Given the description of an element on the screen output the (x, y) to click on. 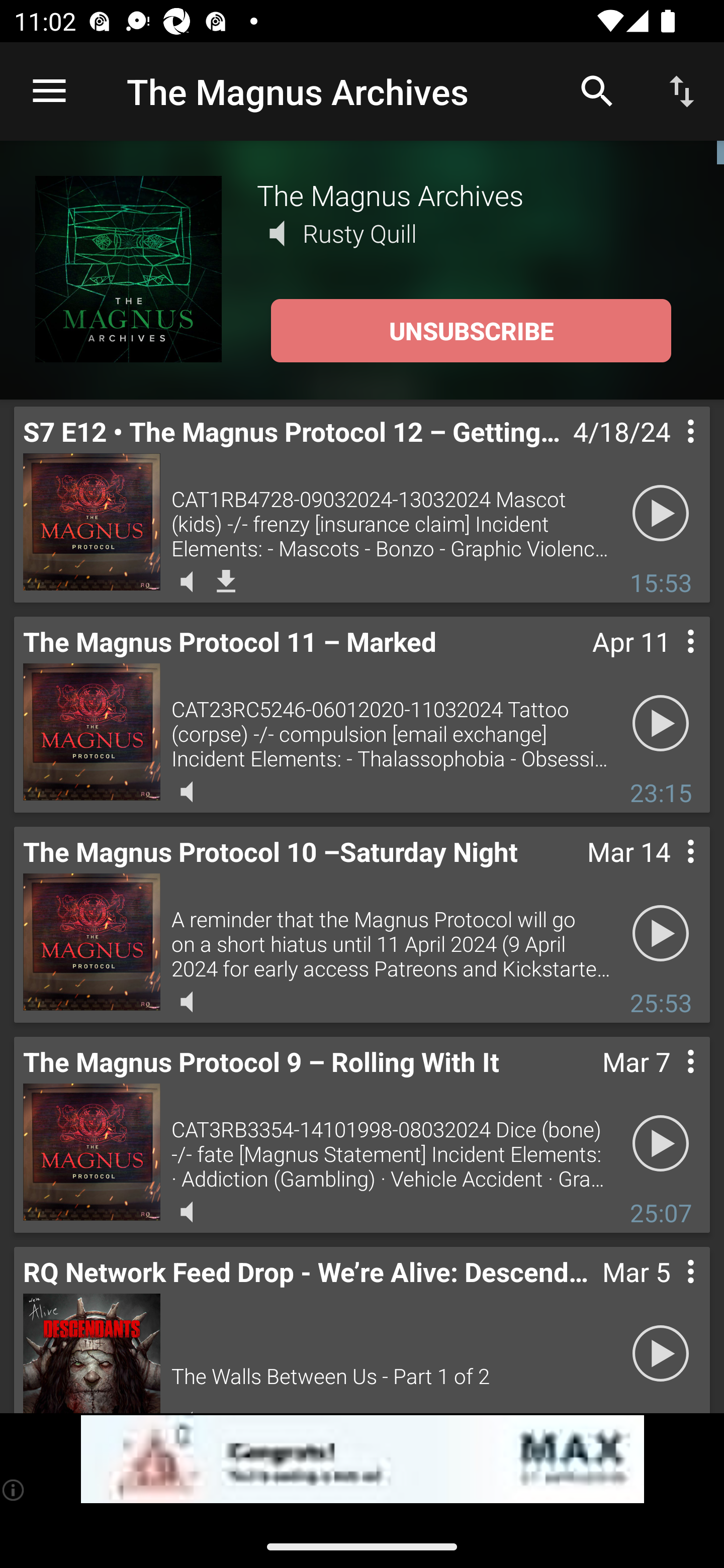
Open navigation sidebar (49, 91)
Search (597, 90)
Sort (681, 90)
UNSUBSCRIBE (470, 330)
Contextual menu (668, 451)
Play (660, 513)
Contextual menu (668, 661)
Play (660, 723)
Contextual menu (668, 870)
Play (660, 933)
Contextual menu (668, 1080)
Play (660, 1143)
Contextual menu (668, 1290)
Play (660, 1353)
app-monetization (362, 1459)
(i) (14, 1489)
